Given the description of an element on the screen output the (x, y) to click on. 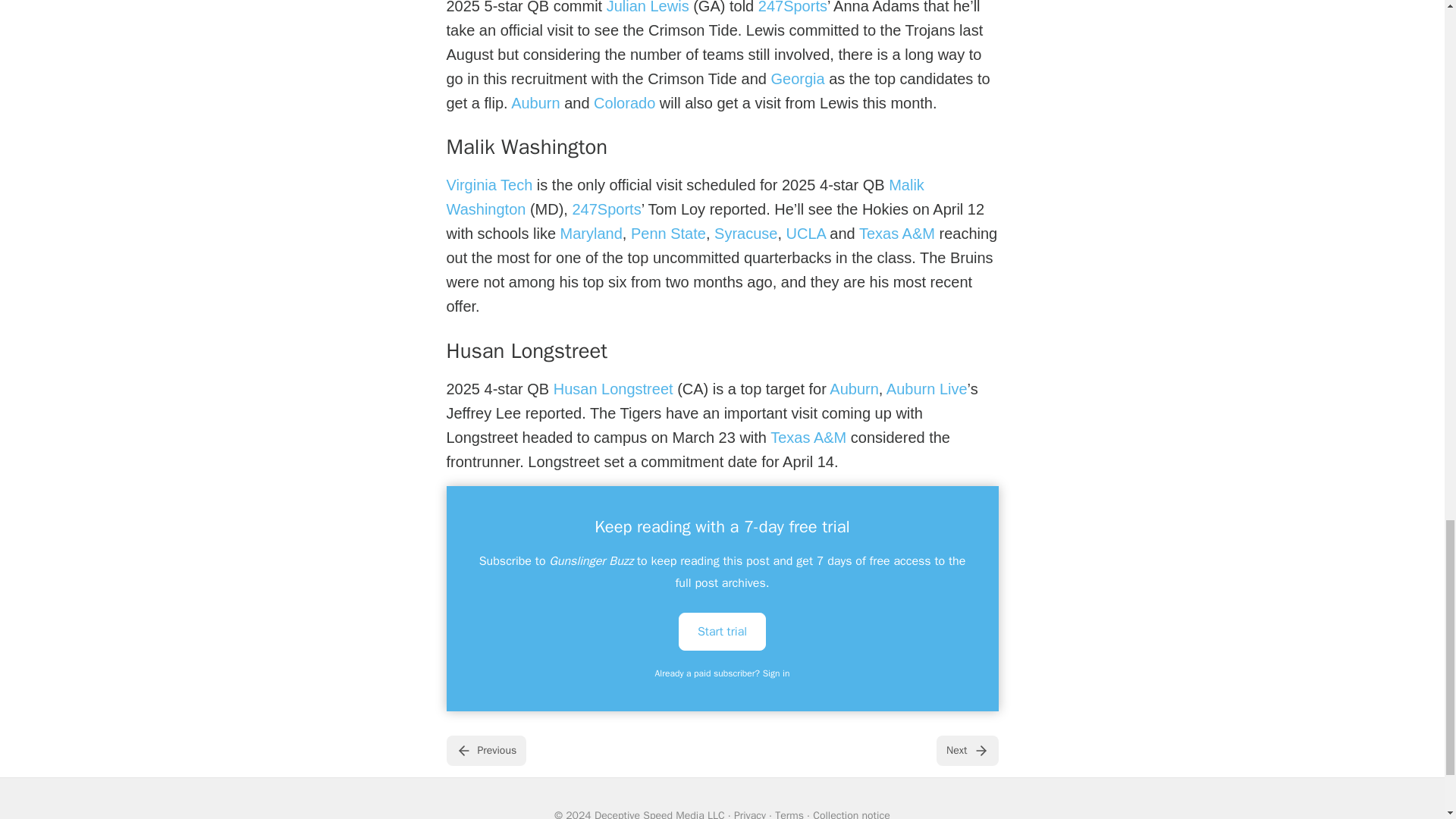
Virginia Tech (488, 184)
247Sports (792, 7)
Maryland (591, 233)
Julian Lewis (647, 7)
247Sports (606, 208)
Malik Washington (684, 196)
Auburn (535, 103)
Colorado (624, 103)
Georgia (797, 78)
